Given the description of an element on the screen output the (x, y) to click on. 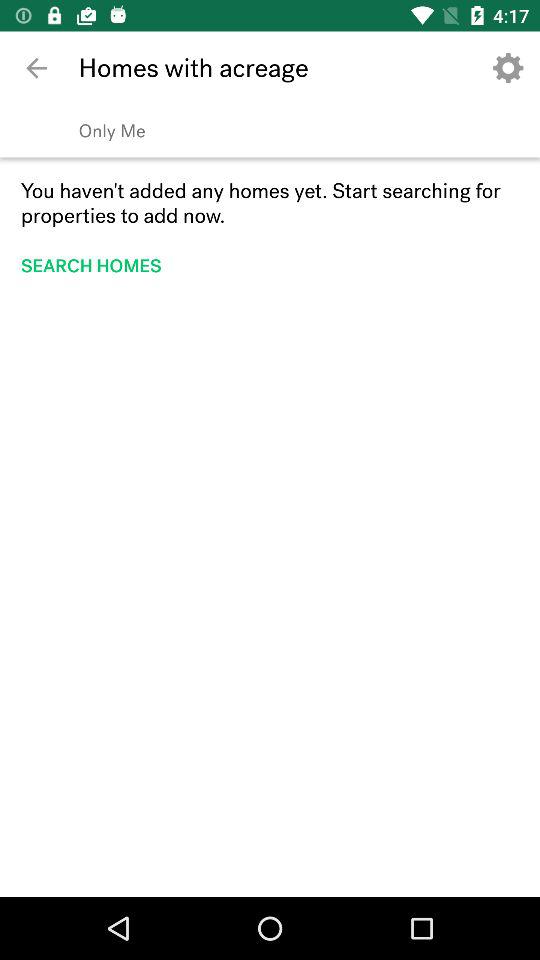
turn off item at the top right corner (508, 67)
